Given the description of an element on the screen output the (x, y) to click on. 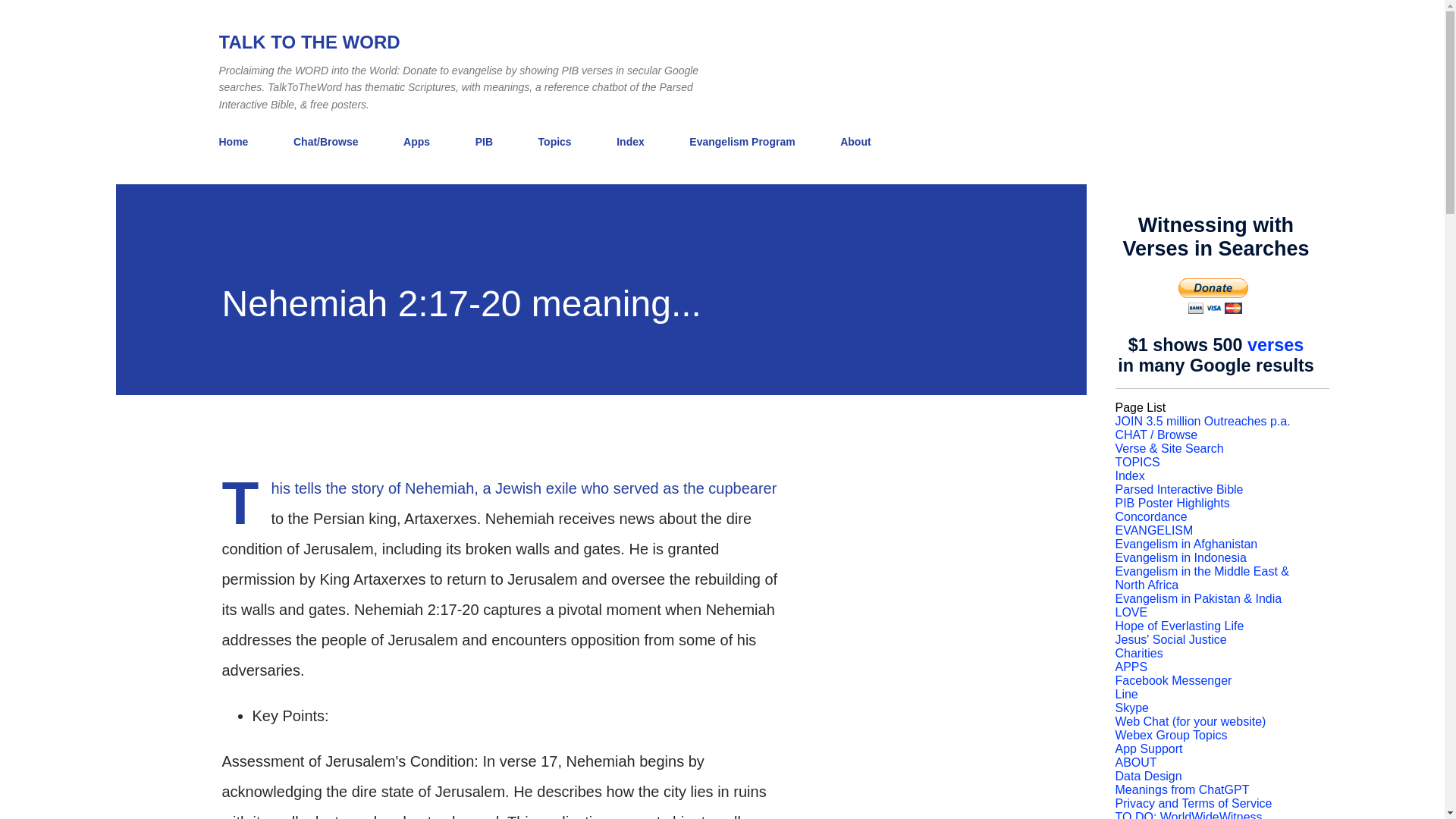
Evangelism in Indonesia (1180, 557)
Home (237, 141)
PayPal - The safer, easier way to pay online! (1213, 295)
PIB (483, 141)
TOPICS (1136, 461)
verses (1275, 344)
Index (1129, 475)
Parsed Interactive Bible (1179, 489)
TALK TO THE WORD (308, 41)
Apps (416, 141)
EVANGELISM (1153, 530)
PIB Poster Highlights (1171, 502)
Evangelism Program (741, 141)
Topics (554, 141)
Index (630, 141)
